Given the description of an element on the screen output the (x, y) to click on. 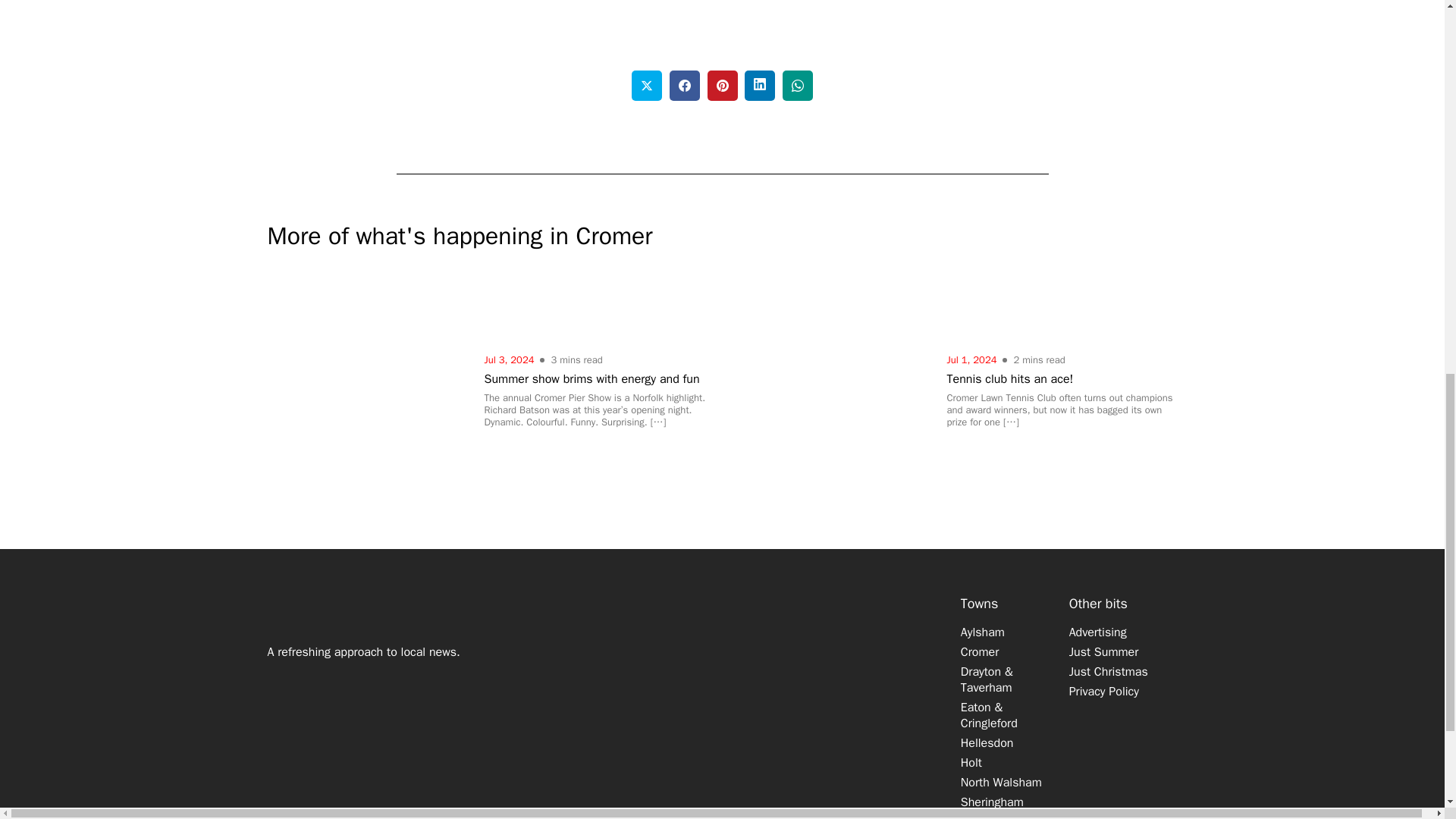
Hellesdon (986, 743)
Aylsham (982, 631)
Cromer (979, 652)
